Given the description of an element on the screen output the (x, y) to click on. 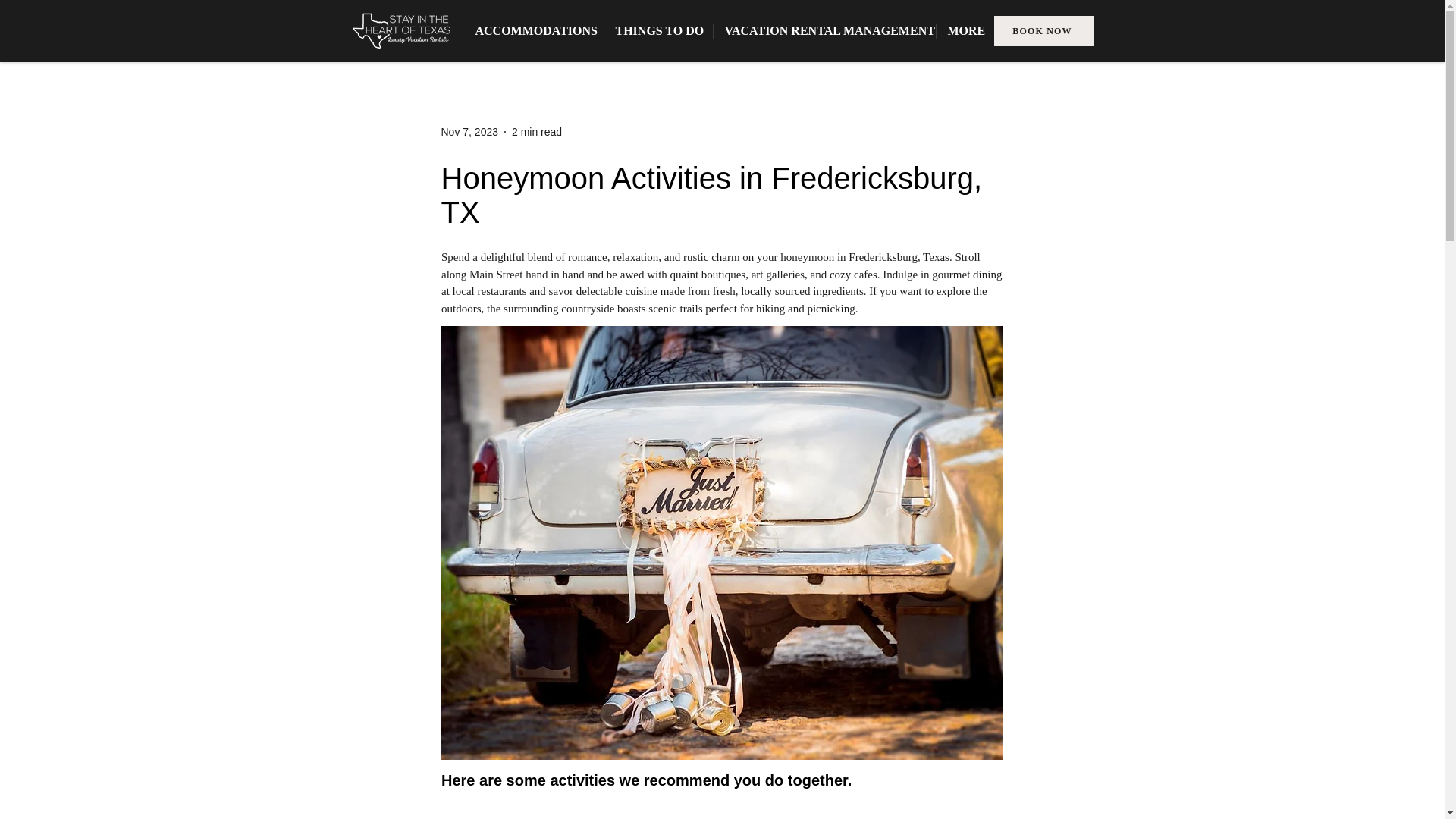
BOOK NOW (1042, 30)
THINGS TO DO (657, 30)
Nov 7, 2023 (470, 132)
VACATION RENTAL MANAGEMENT (823, 30)
2 min read (537, 132)
ACCOMMODATIONS (534, 30)
